Given the description of an element on the screen output the (x, y) to click on. 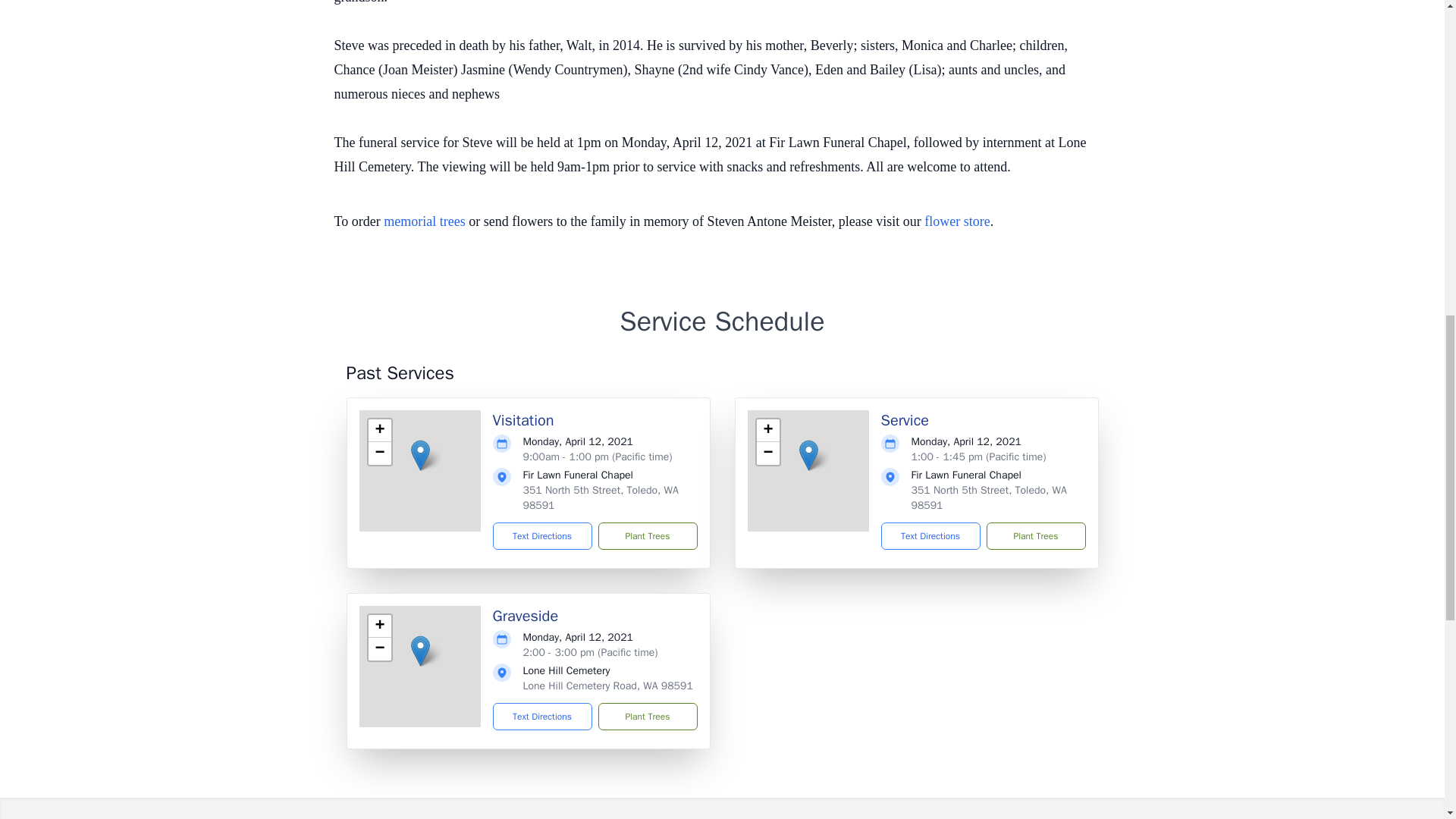
flower store (957, 221)
memorial trees (424, 221)
351 North 5th Street, Toledo, WA 98591 (989, 497)
Text Directions (542, 716)
Text Directions (542, 535)
Plant Trees (1034, 535)
Zoom out (767, 453)
Zoom in (379, 626)
Zoom in (767, 430)
Plant Trees (646, 716)
351 North 5th Street, Toledo, WA 98591 (600, 497)
Zoom out (379, 453)
Text Directions (929, 535)
Plant Trees (646, 535)
Zoom out (379, 649)
